Given the description of an element on the screen output the (x, y) to click on. 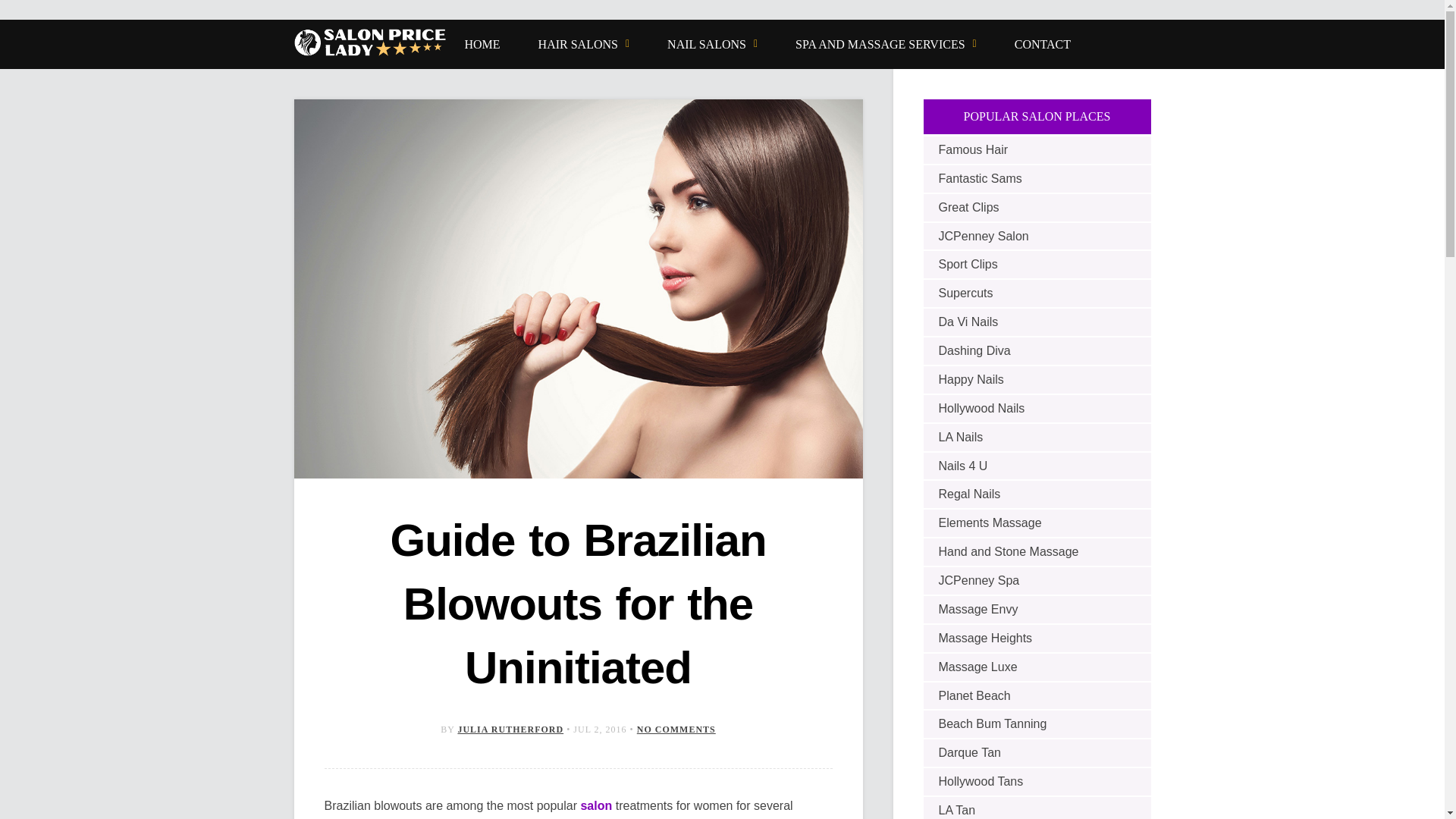
HAIR SALONS (583, 43)
NAIL SALONS (711, 43)
HOME (482, 43)
